Given the description of an element on the screen output the (x, y) to click on. 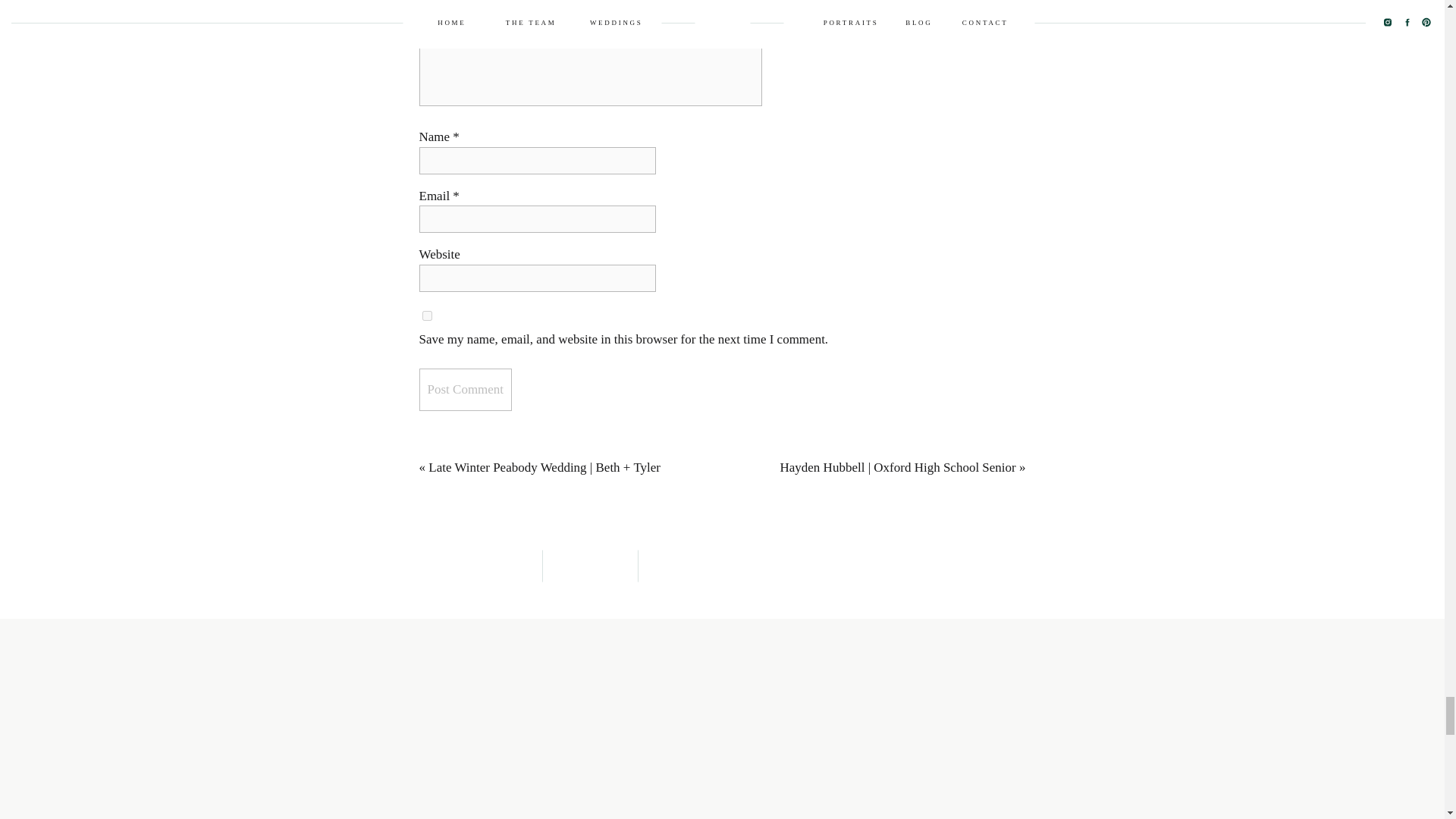
yes (426, 316)
Post Comment (465, 389)
Post Comment (465, 389)
